Given the description of an element on the screen output the (x, y) to click on. 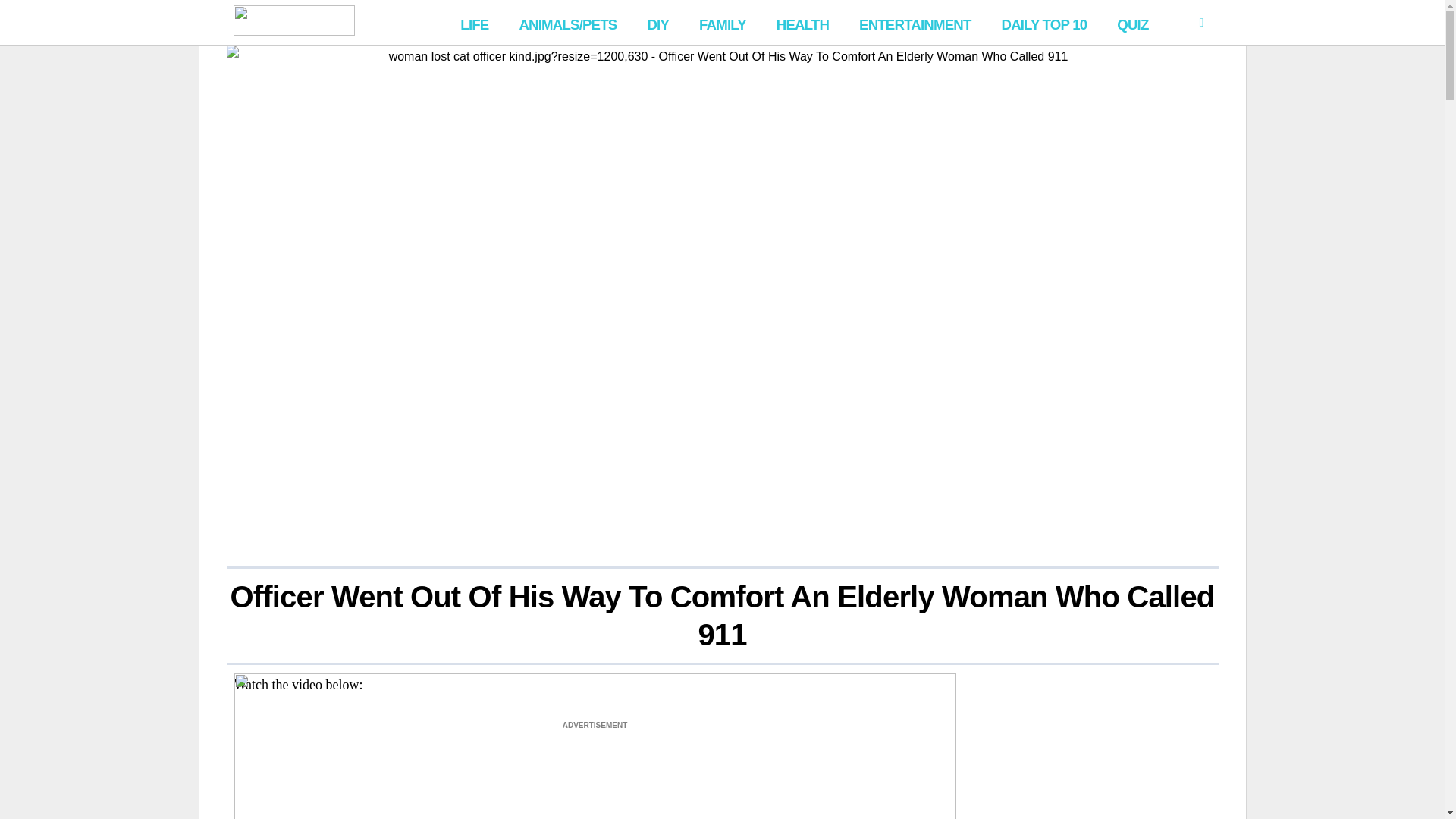
QUIZ (1132, 22)
HEALTH (801, 22)
LIFE (474, 22)
FAMILY (722, 22)
ENTERTAINMENT (914, 22)
DAILY TOP 10 (1043, 22)
